Given the description of an element on the screen output the (x, y) to click on. 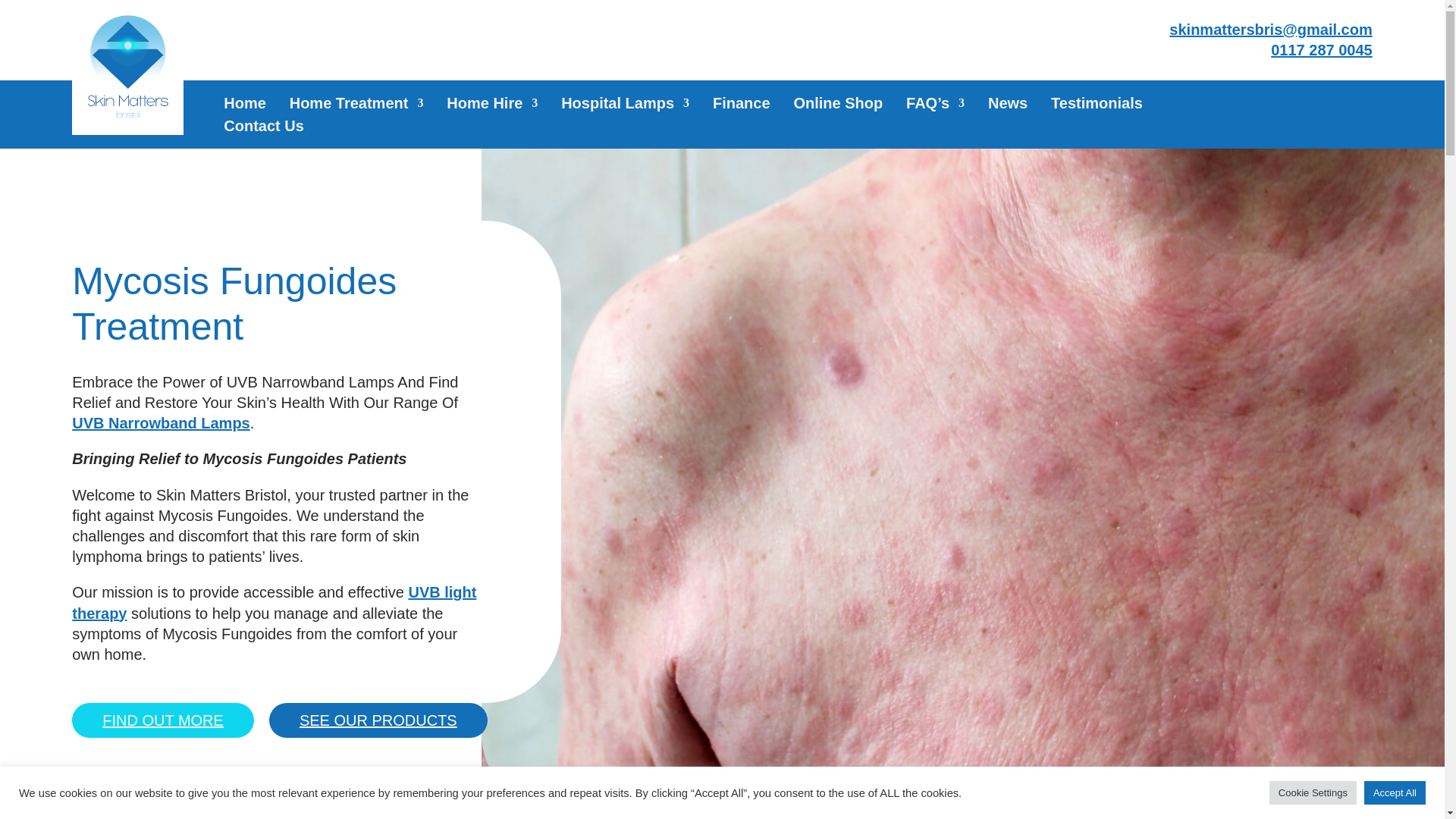
Home Hire (491, 105)
News (1007, 105)
Testimonials (1096, 105)
Home Treatment (356, 105)
Home (245, 105)
Hospital Lamps (624, 105)
0117 287 0045 (1321, 49)
Contact Us (264, 128)
Finance (741, 105)
Online Shop (837, 105)
